Given the description of an element on the screen output the (x, y) to click on. 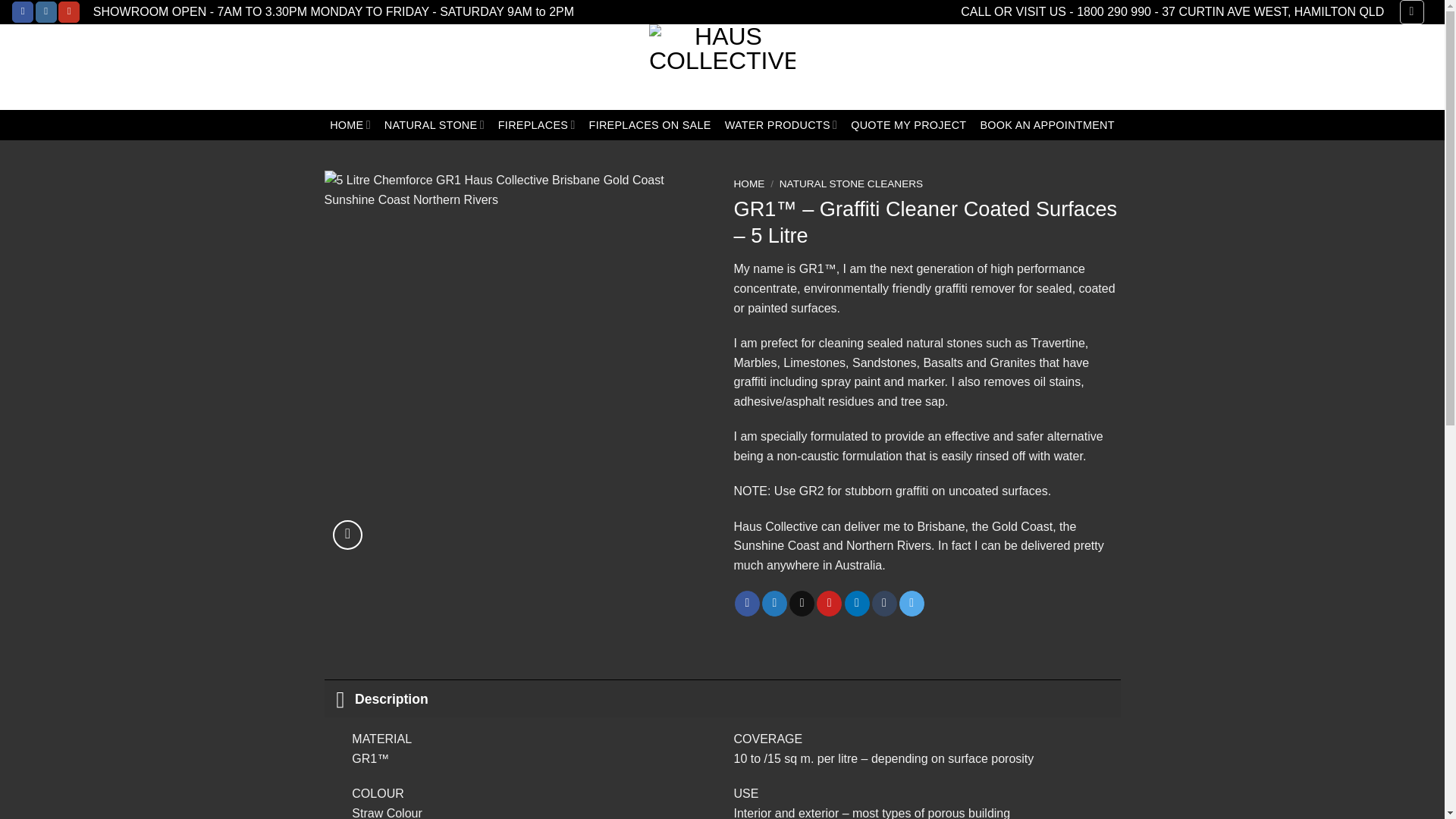
Email to a Friend (801, 603)
Share on LinkedIn (856, 603)
WATER PRODUCTS (781, 124)
Follow on Instagram (45, 12)
Share on Twitter (774, 603)
Pin on Pinterest (828, 603)
FIREPLACES ON SALE (650, 124)
Zoom (347, 534)
Share on Facebook (747, 603)
NATURAL STONE (434, 124)
FIREPLACES (536, 124)
Share on Tumblr (884, 603)
Follow on Facebook (22, 12)
Follow on YouTube (69, 12)
HOME (350, 124)
